Given the description of an element on the screen output the (x, y) to click on. 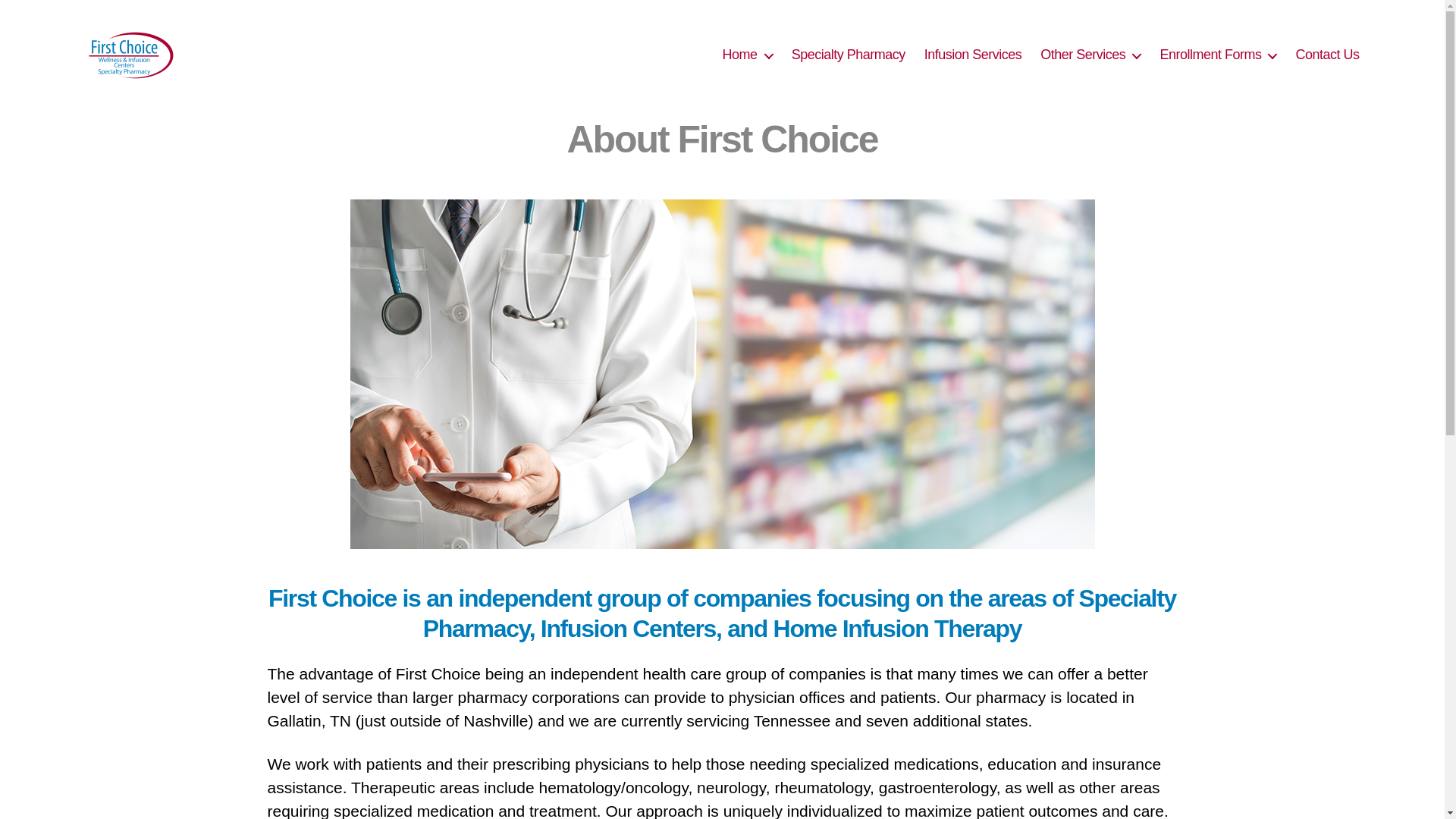
Enrollment Forms (1217, 54)
Contact Us (1326, 54)
Home (747, 54)
Infusion Services (973, 54)
Specialty Pharmacy (848, 54)
Other Services (1090, 54)
